Given the description of an element on the screen output the (x, y) to click on. 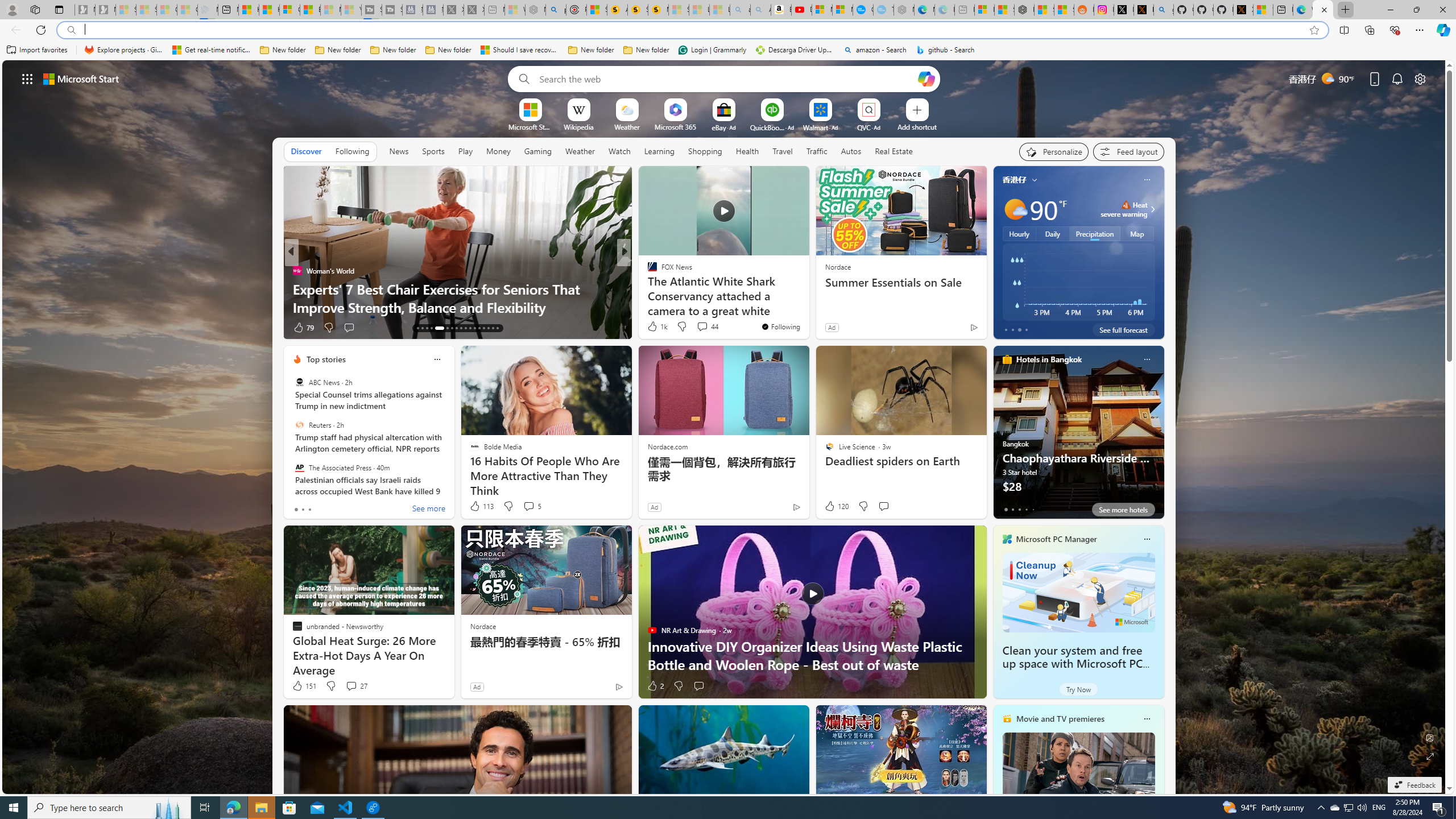
View comments 2 Comment (702, 327)
Day 1: Arriving in Yemen (surreal to be here) - YouTube (801, 9)
My location (1033, 179)
Try Now (1078, 689)
Real Estate (893, 151)
Start the conversation (698, 685)
hotels-header-icon (1006, 358)
Search (520, 78)
App launcher (27, 78)
View comments 1 Comment (705, 327)
Opinion: Op-Ed and Commentary - USA TODAY (862, 9)
3 Everyday Phrases You Might Not Realize Are Actually Rude (807, 298)
Learning (658, 151)
Nordace - Summer Adventures 2024 - Sleeping (534, 9)
